Given the description of an element on the screen output the (x, y) to click on. 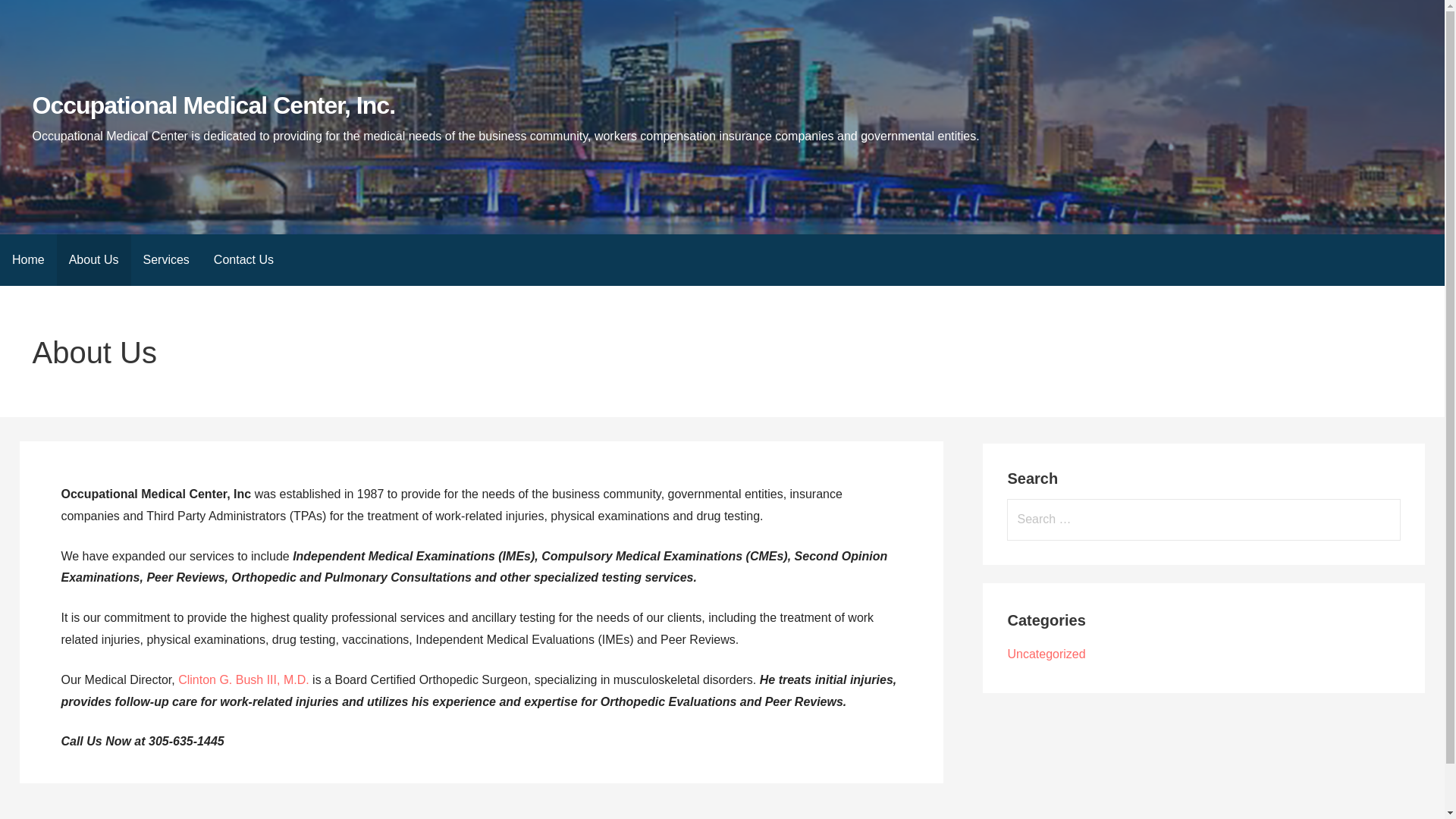
Uncategorized (1045, 653)
Home (28, 259)
Occupational Medical Center, Inc. (213, 104)
Contact Us (243, 259)
About Us (93, 259)
Clinton G. Bush III, M.D. (242, 679)
Search (31, 15)
Services (165, 259)
